Given the description of an element on the screen output the (x, y) to click on. 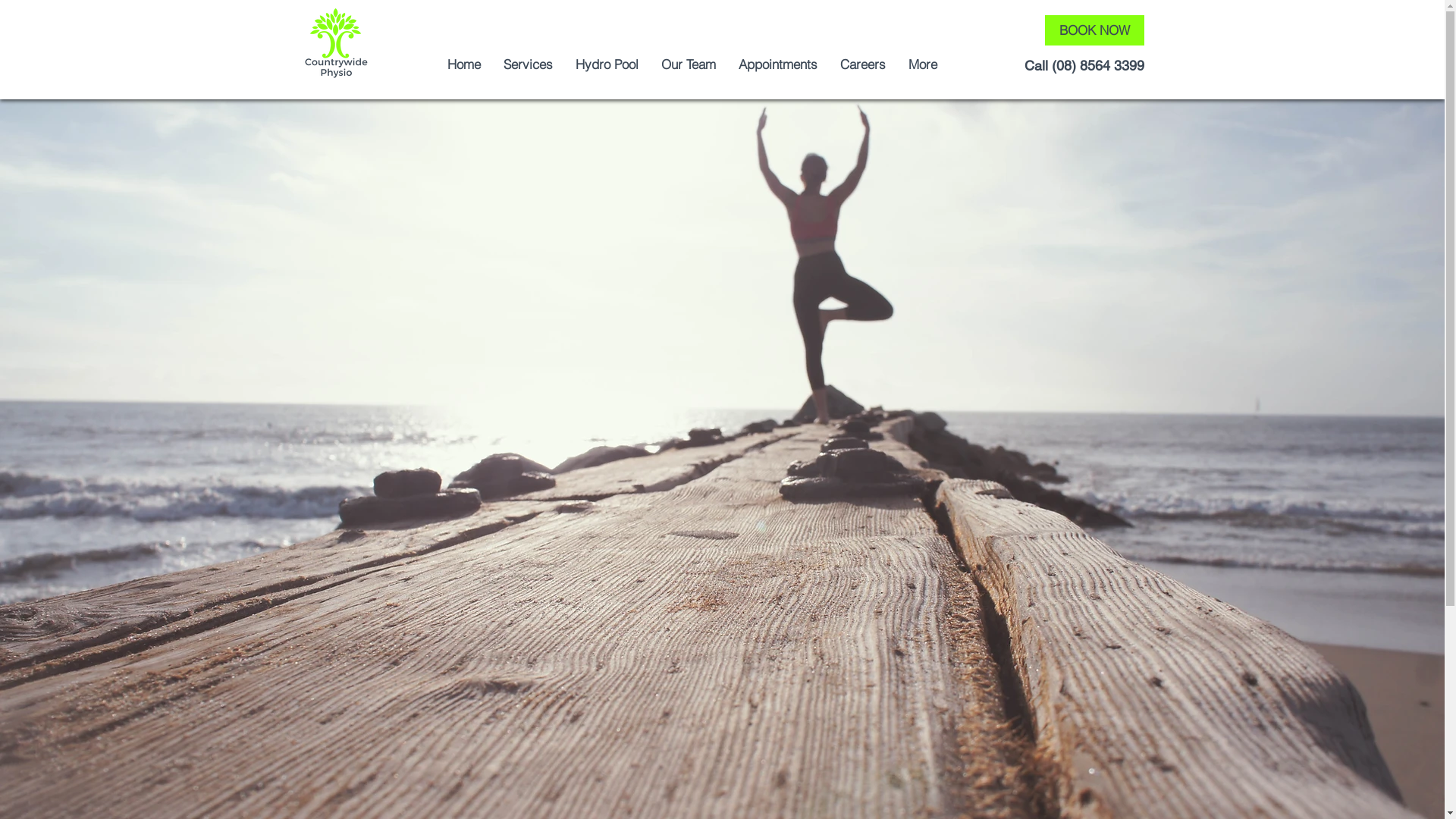
Hydro Pool Element type: text (606, 64)
BOOK NOW Element type: text (1094, 30)
Services Element type: text (527, 64)
Home Element type: text (463, 64)
Appointments Element type: text (777, 64)
Our Team Element type: text (687, 64)
Careers Element type: text (862, 64)
